Given the description of an element on the screen output the (x, y) to click on. 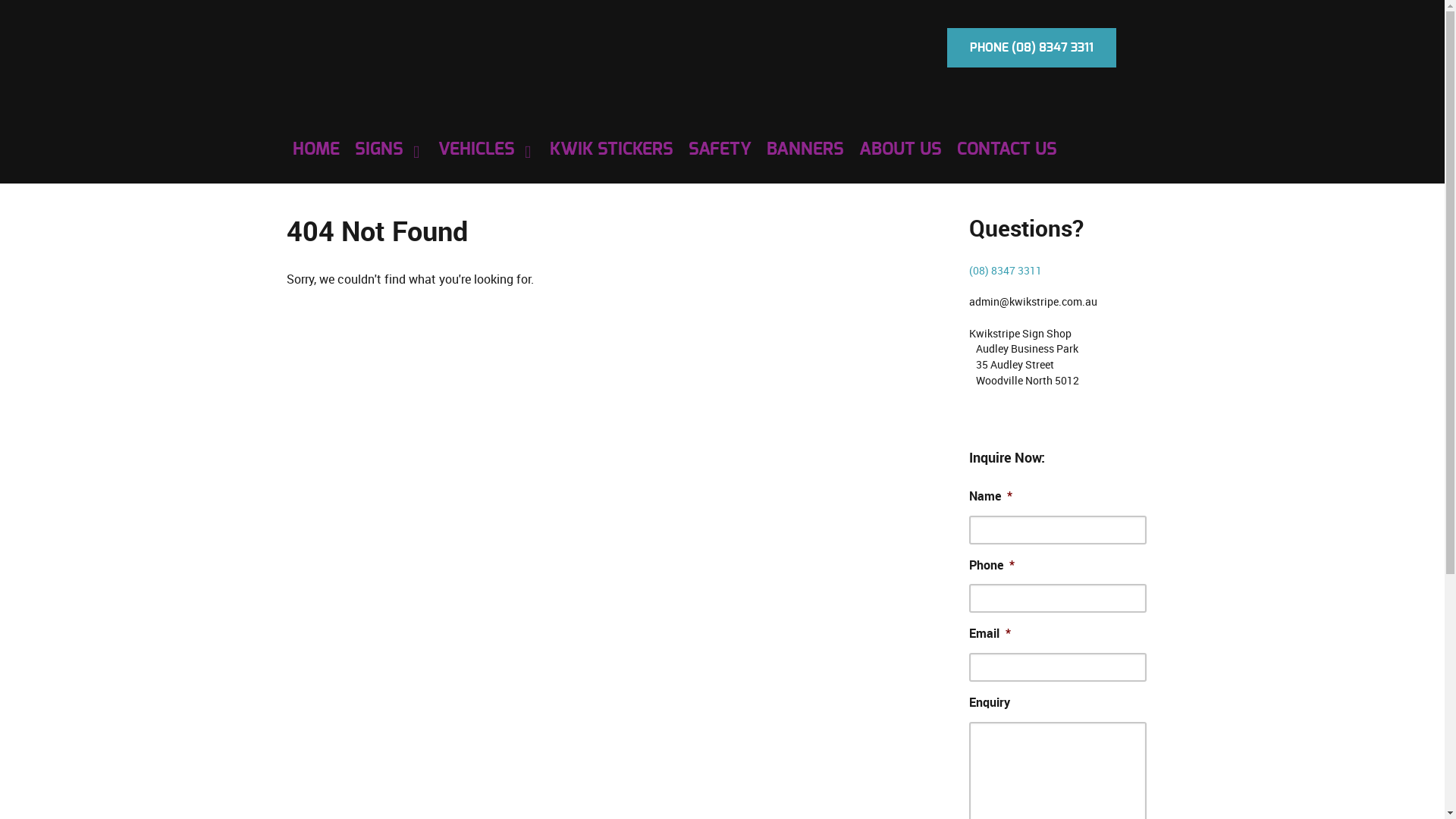
CONTACT US Element type: text (1007, 149)
Kwikstripe Sign Shop Adelaide Element type: hover (286, 27)
SIGNS Element type: text (388, 149)
SAFETY Element type: text (719, 149)
VEHICLES Element type: text (486, 149)
KWIK STICKERS Element type: text (610, 149)
PHONE (08) 8347 3311 Element type: text (1031, 47)
HOME Element type: text (315, 149)
ABOUT US Element type: text (899, 149)
(08) 8347 3311 Element type: text (1005, 270)
BANNERS Element type: text (804, 149)
